Given the description of an element on the screen output the (x, y) to click on. 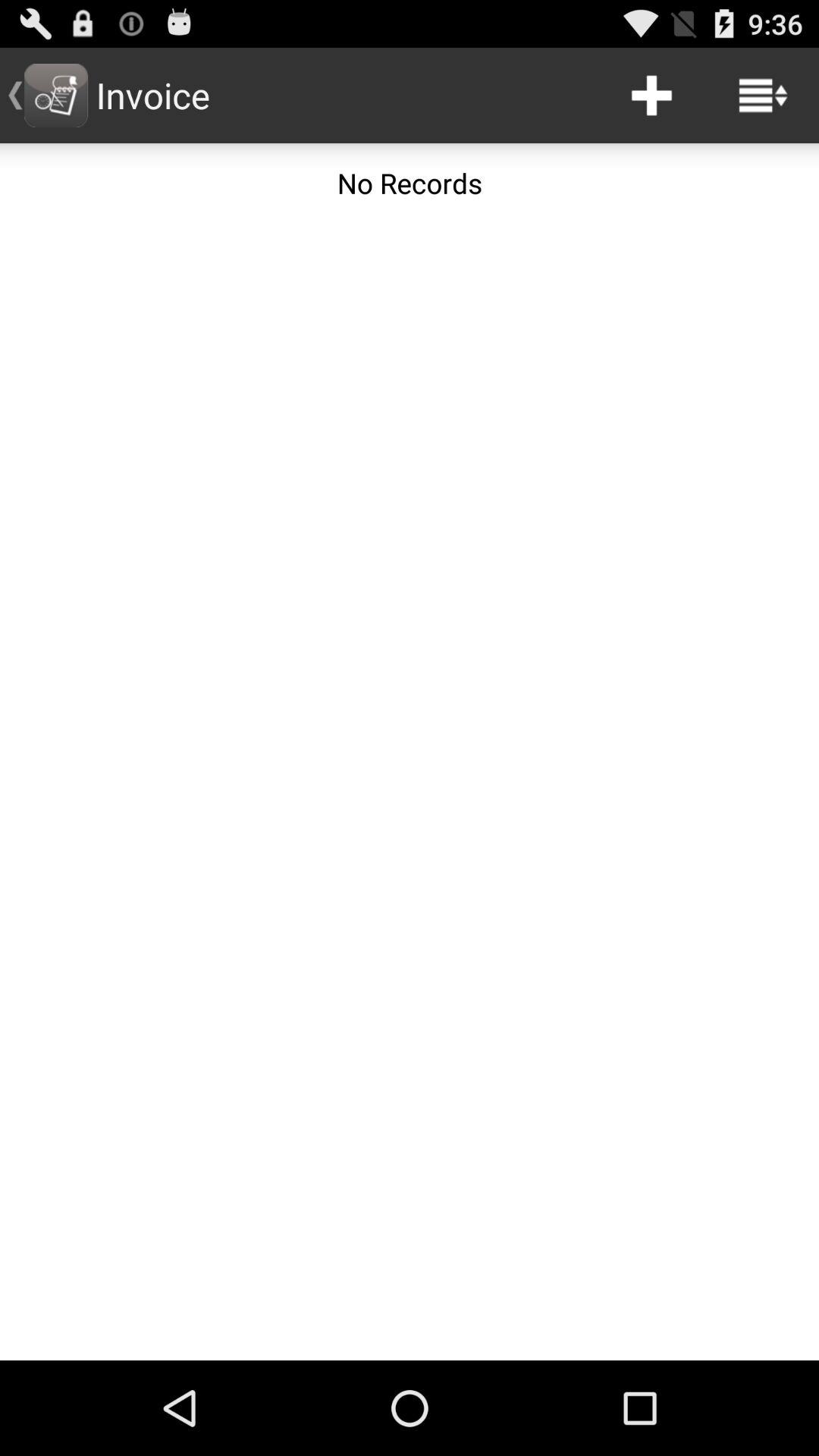
click the icon at the center (409, 791)
